Given the description of an element on the screen output the (x, y) to click on. 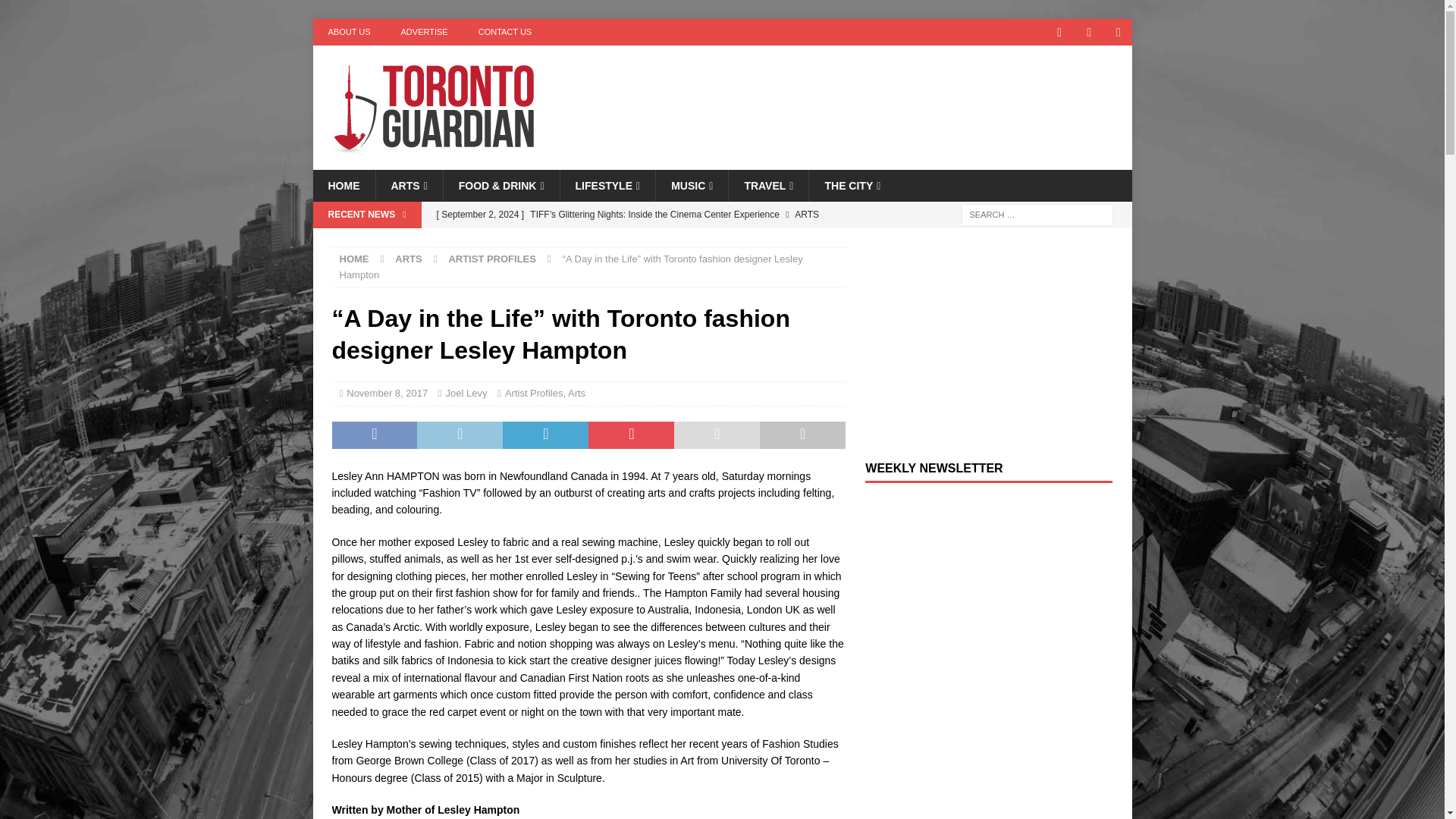
Advertisement (868, 94)
ARTS (408, 185)
LIFESTYLE (607, 185)
ABOUT US (349, 31)
TRAVEL (768, 185)
ADVERTISE (424, 31)
MUSIC (691, 185)
HOME (343, 185)
CONTACT US (505, 31)
